Given the description of an element on the screen output the (x, y) to click on. 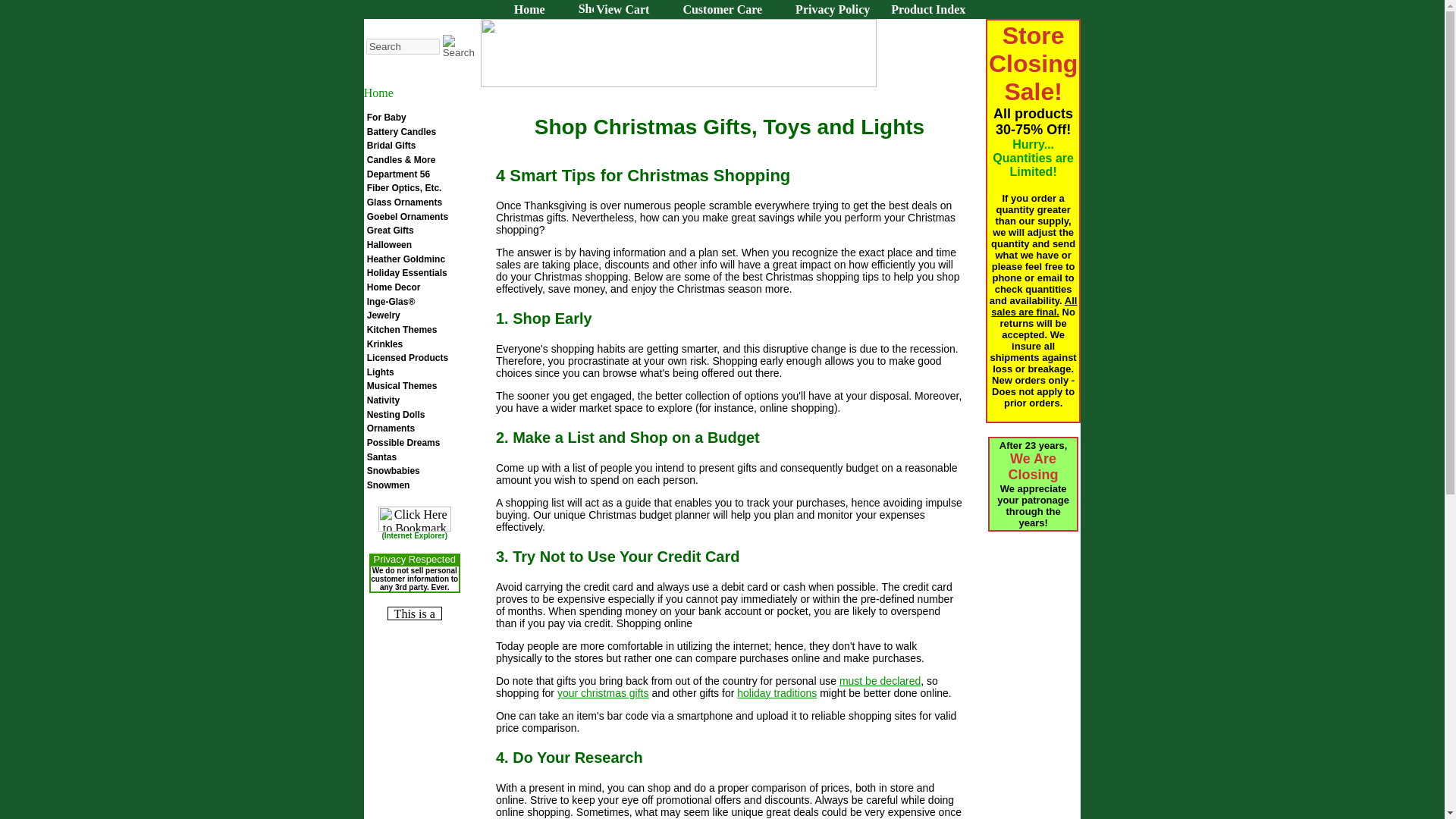
Goebel Ornaments (407, 216)
Fiber Optics, Etc. (404, 187)
Halloween (389, 244)
Department 56 (397, 173)
Glass Ornaments (404, 202)
Holiday Essentials (406, 272)
Search (458, 46)
Krinkles (384, 343)
Home Decor (393, 286)
For Baby (386, 117)
Bridal Gifts (391, 145)
Heather Goldminc (405, 258)
Search (402, 46)
Home (528, 9)
Battery Candles (400, 131)
